Given the description of an element on the screen output the (x, y) to click on. 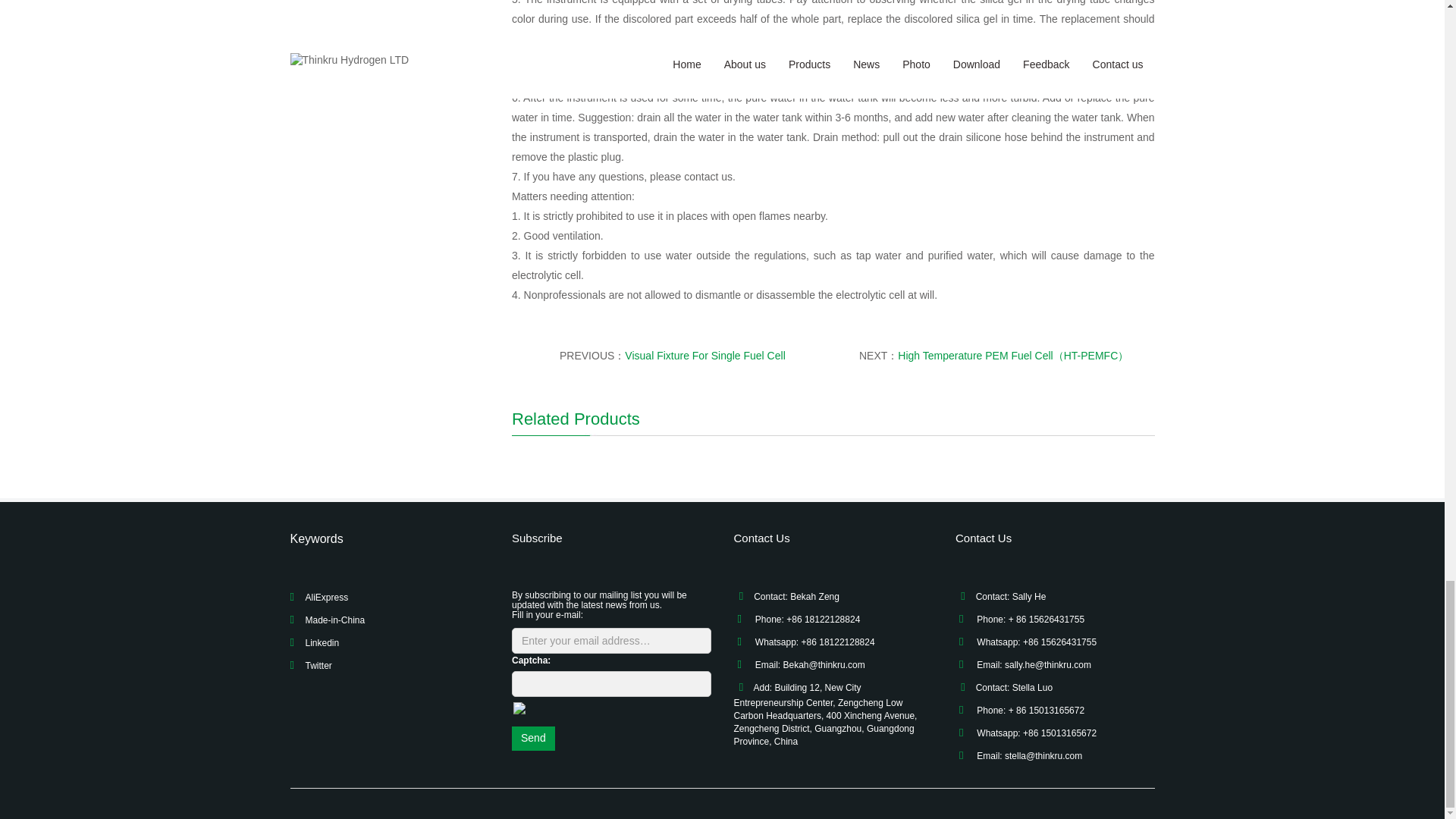
AliExpress (325, 597)
Made-in-China (334, 620)
Linkedin (321, 643)
Visual Fixture For Single Fuel Cell (704, 355)
Twitter (317, 665)
